Given the description of an element on the screen output the (x, y) to click on. 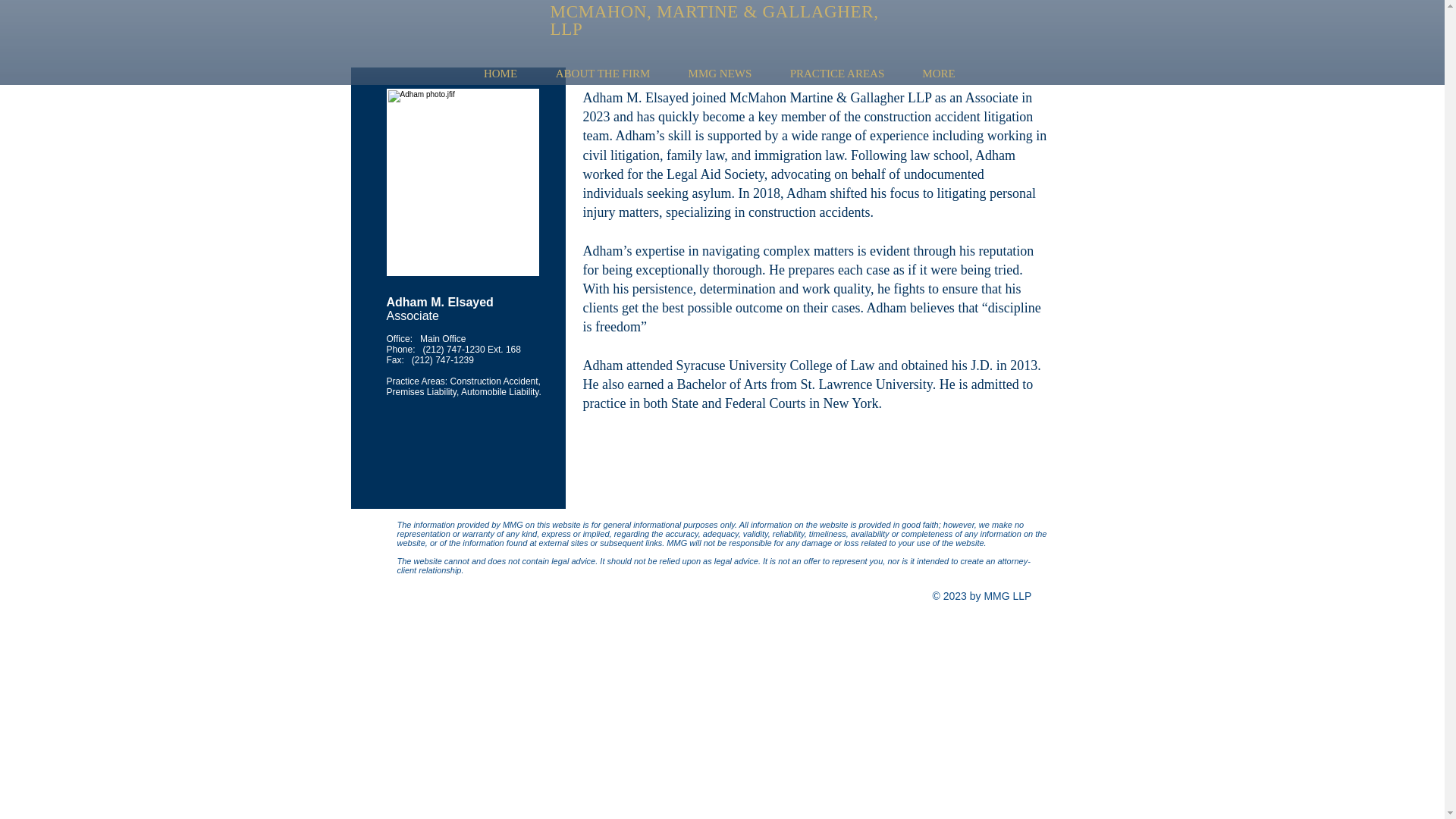
MMG NEWS (719, 73)
HOME (499, 73)
PRACTICE AREAS (836, 73)
ABOUT THE FIRM (603, 73)
